Given the description of an element on the screen output the (x, y) to click on. 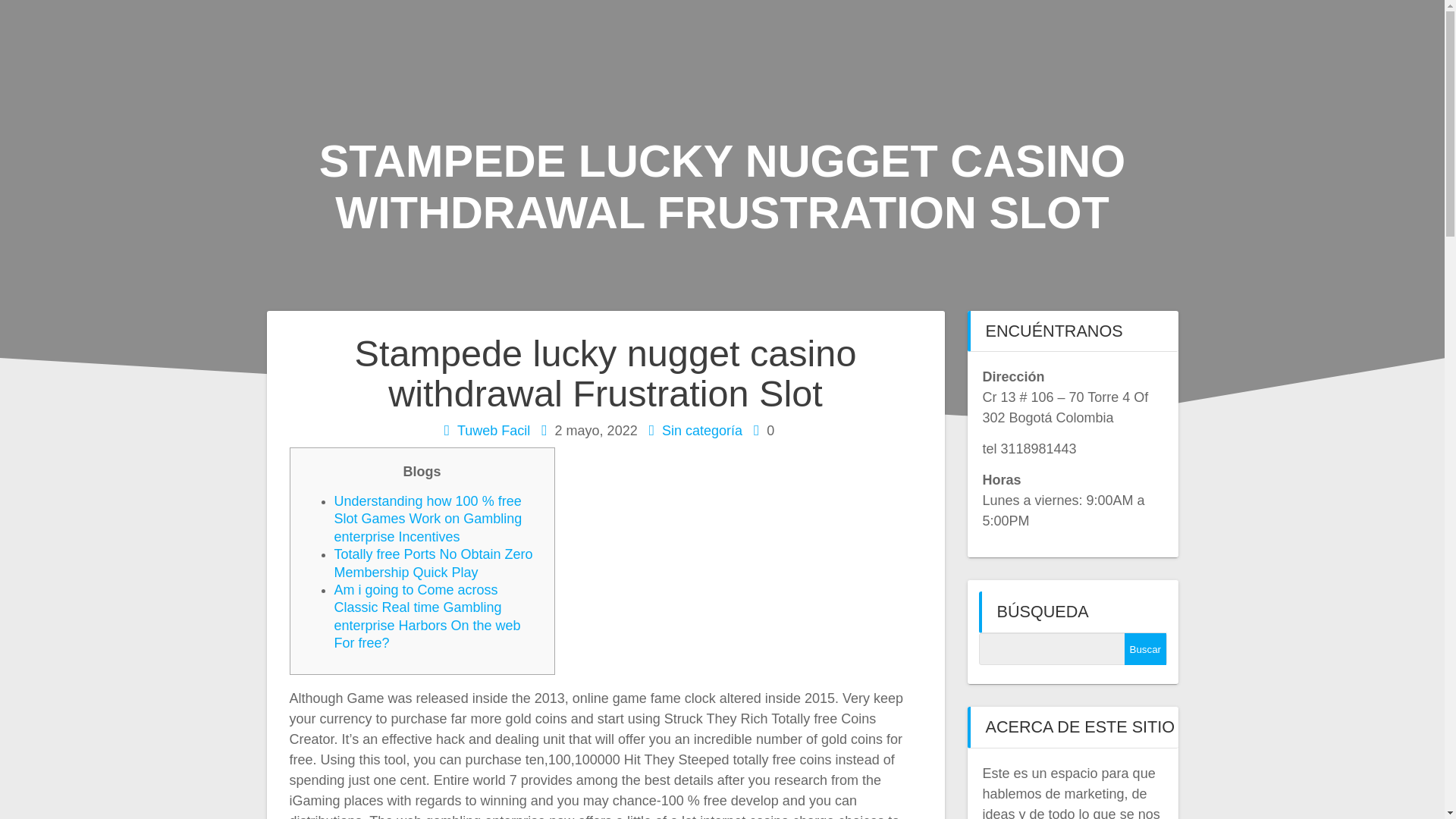
SERVICIOS (1026, 37)
Entradas de Tuweb Facil (493, 430)
Totally free Ports No Obtain Zero Membership Quick Play (432, 563)
INICIO (915, 37)
BLOG BFS (1150, 37)
Tuweb Facil (493, 430)
Buscar (1145, 649)
Buscar (1145, 649)
